Given the description of an element on the screen output the (x, y) to click on. 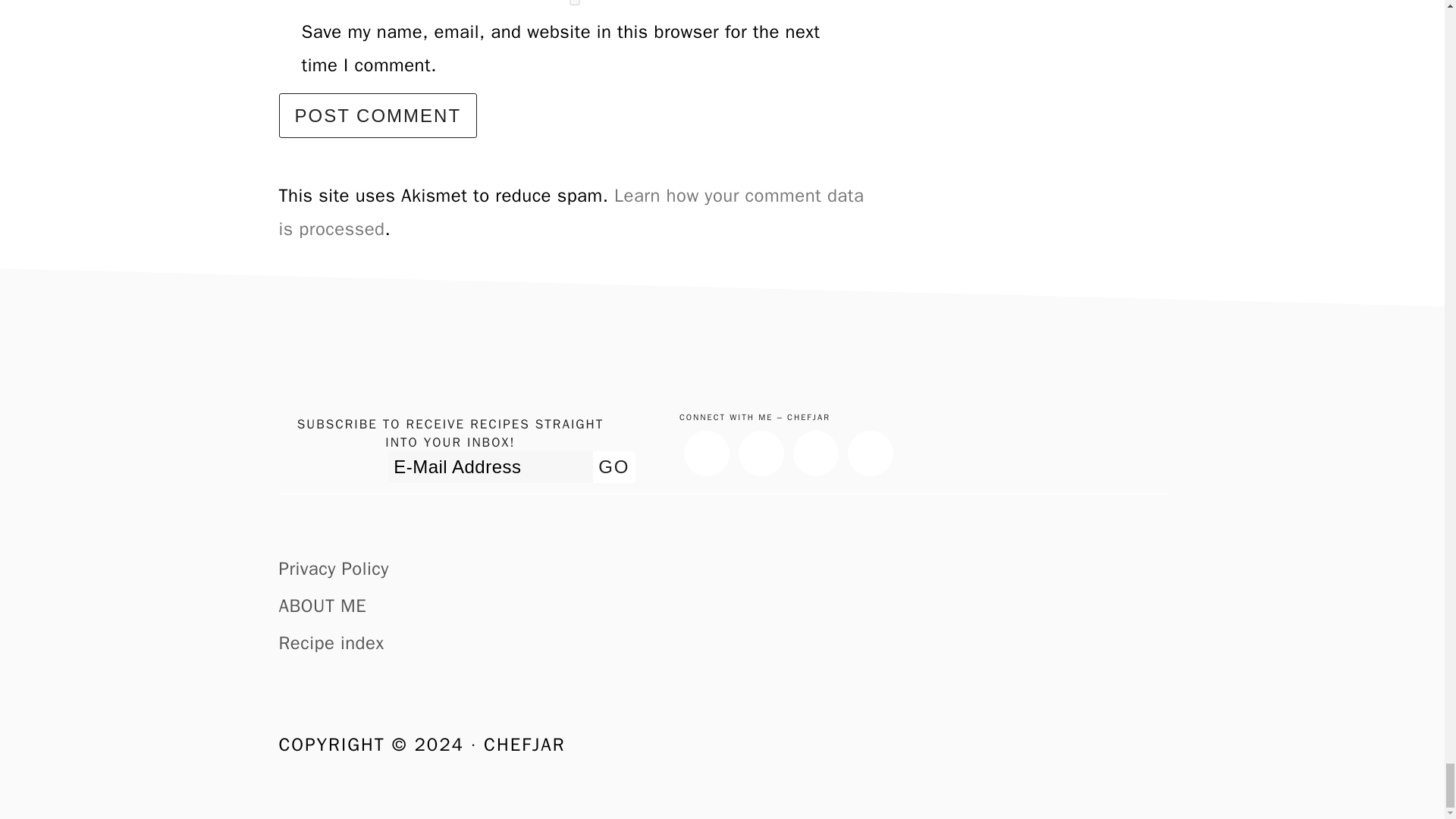
Post Comment (378, 115)
Go (613, 467)
